Given the description of an element on the screen output the (x, y) to click on. 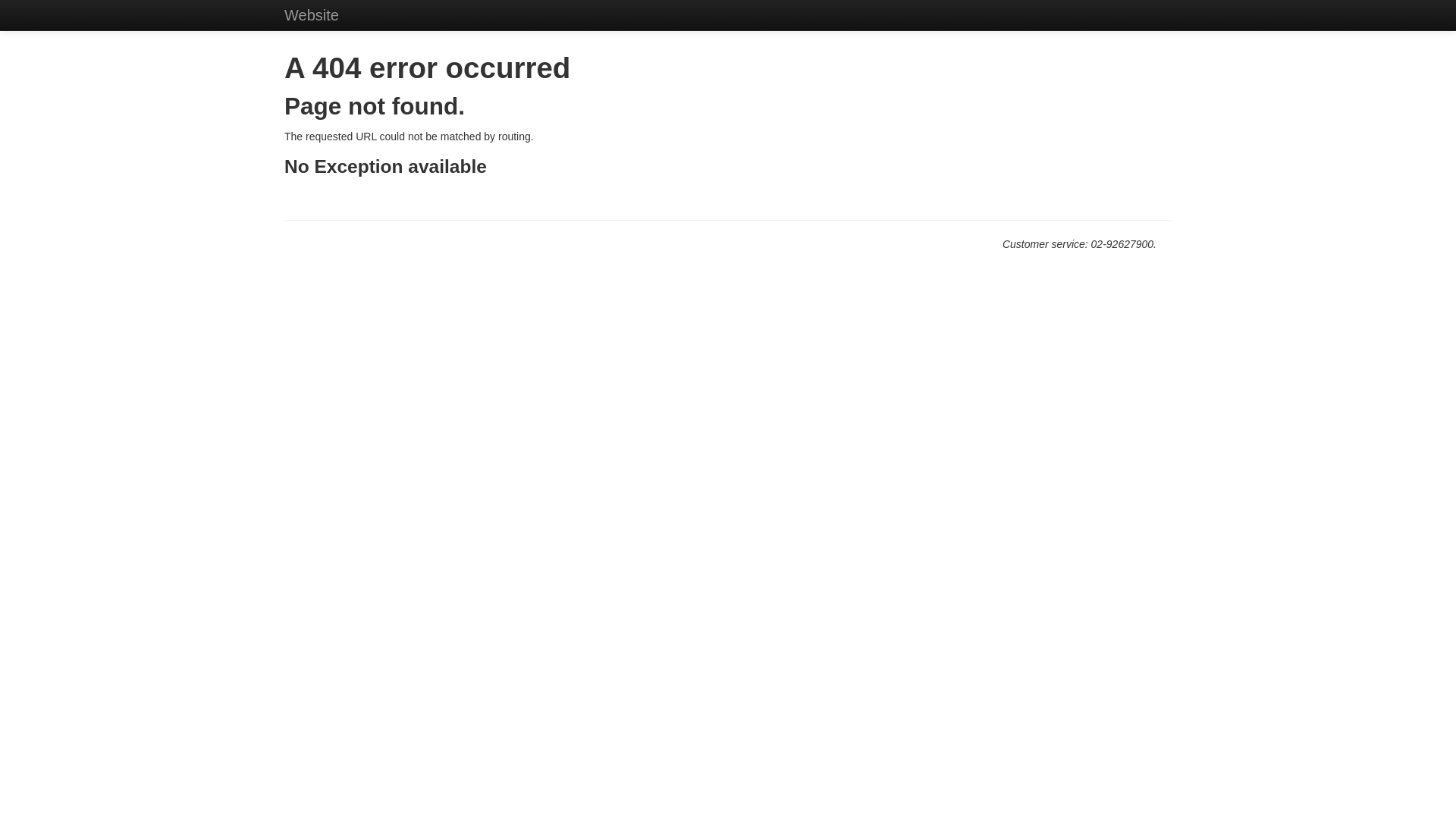
Website Element type: text (311, 15)
